Given the description of an element on the screen output the (x, y) to click on. 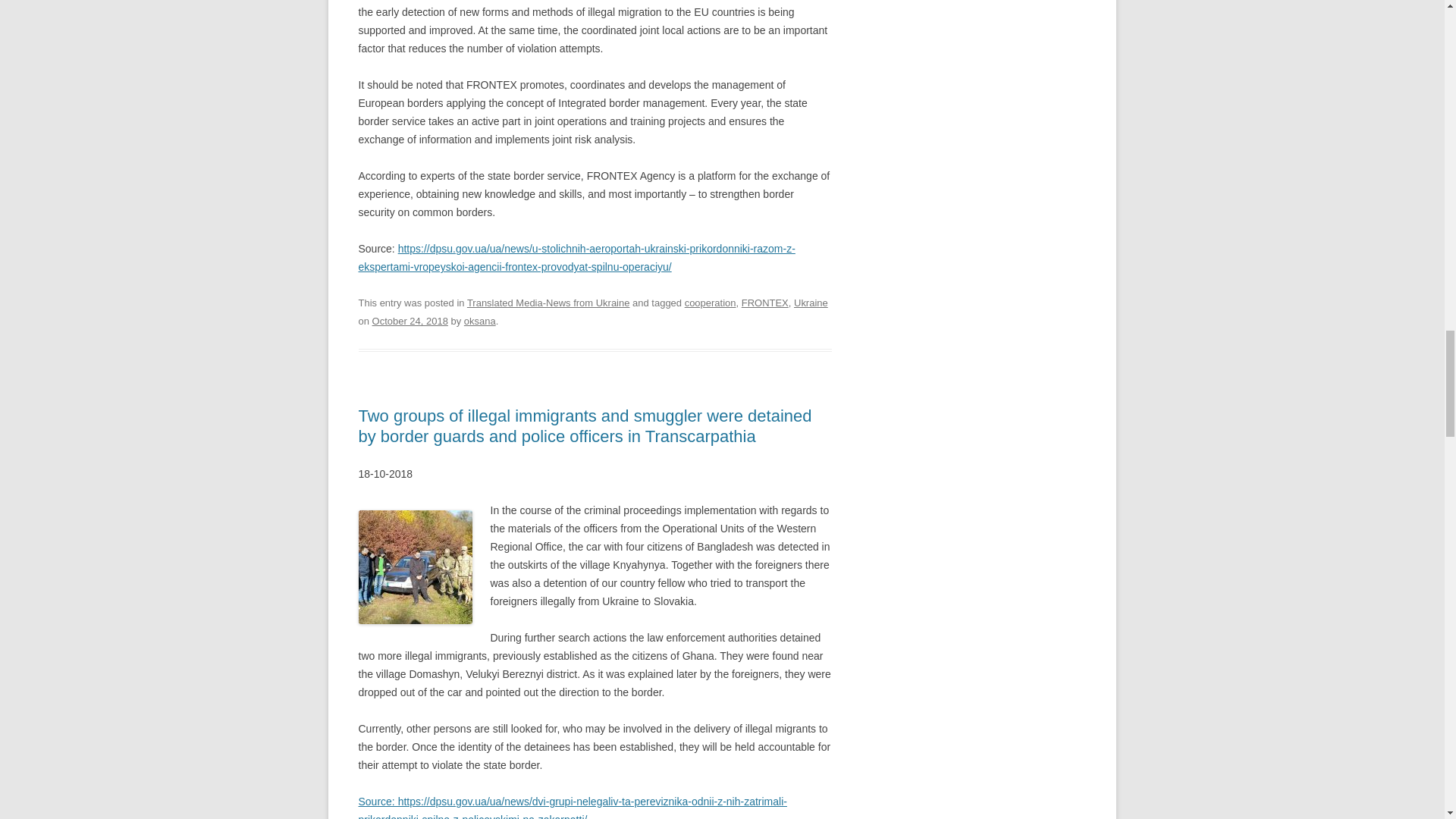
Translated Media-News from Ukraine (548, 302)
cooperation (710, 302)
October 24, 2018 (410, 320)
FRONTEX (765, 302)
View all posts by oksana (480, 320)
12:44 (410, 320)
oksana (480, 320)
Ukraine (810, 302)
